Given the description of an element on the screen output the (x, y) to click on. 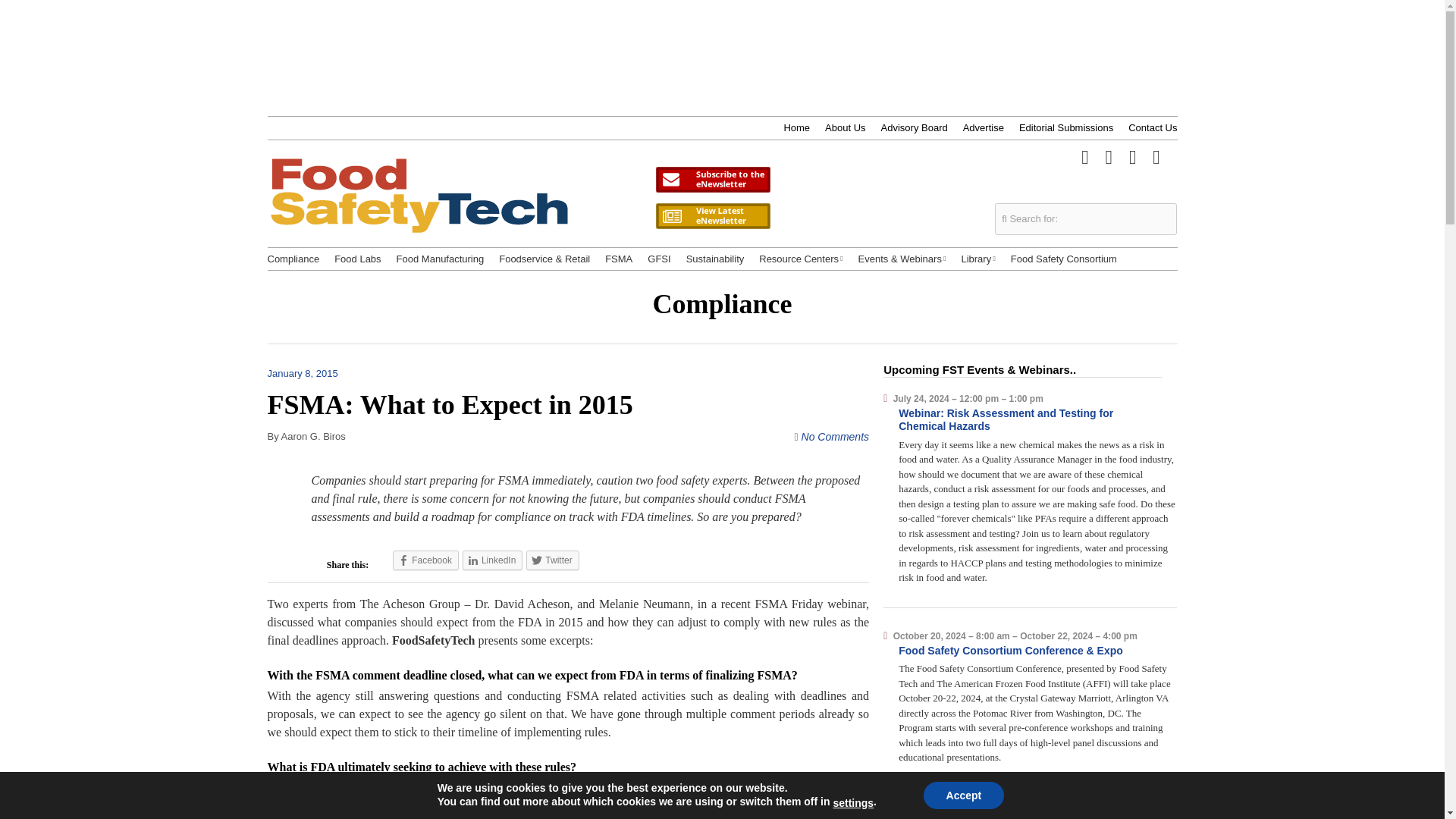
Click to share on LinkedIn (492, 560)
Food Manufacturing (440, 258)
Get The Newsletter! (712, 178)
GFSI (658, 258)
Follow me on Twitter (1084, 155)
Friend me on Facebook (1108, 155)
View The Latest Newsletter (712, 214)
Editorial Submissions (1066, 127)
Follow me on Twitter (1084, 155)
Subscribe to my RSS Feed (1156, 155)
Connect with me on LinkedIn (1132, 155)
Compliance (292, 258)
Subscribe to my RSS Feed (1156, 155)
Advisory Board (913, 127)
Resource Centers (800, 258)
